Given the description of an element on the screen output the (x, y) to click on. 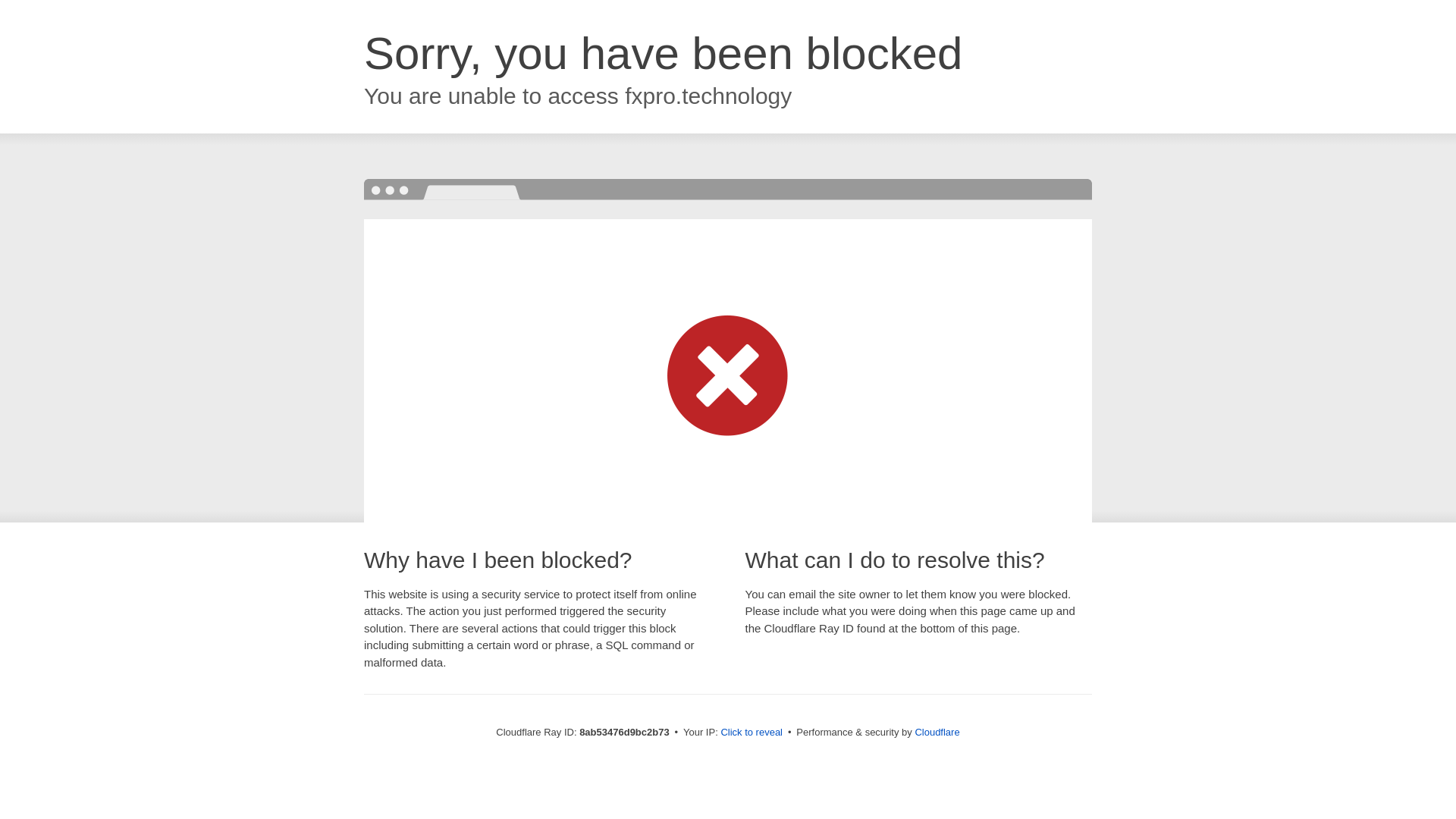
Click to reveal (751, 732)
Cloudflare (936, 731)
